Given the description of an element on the screen output the (x, y) to click on. 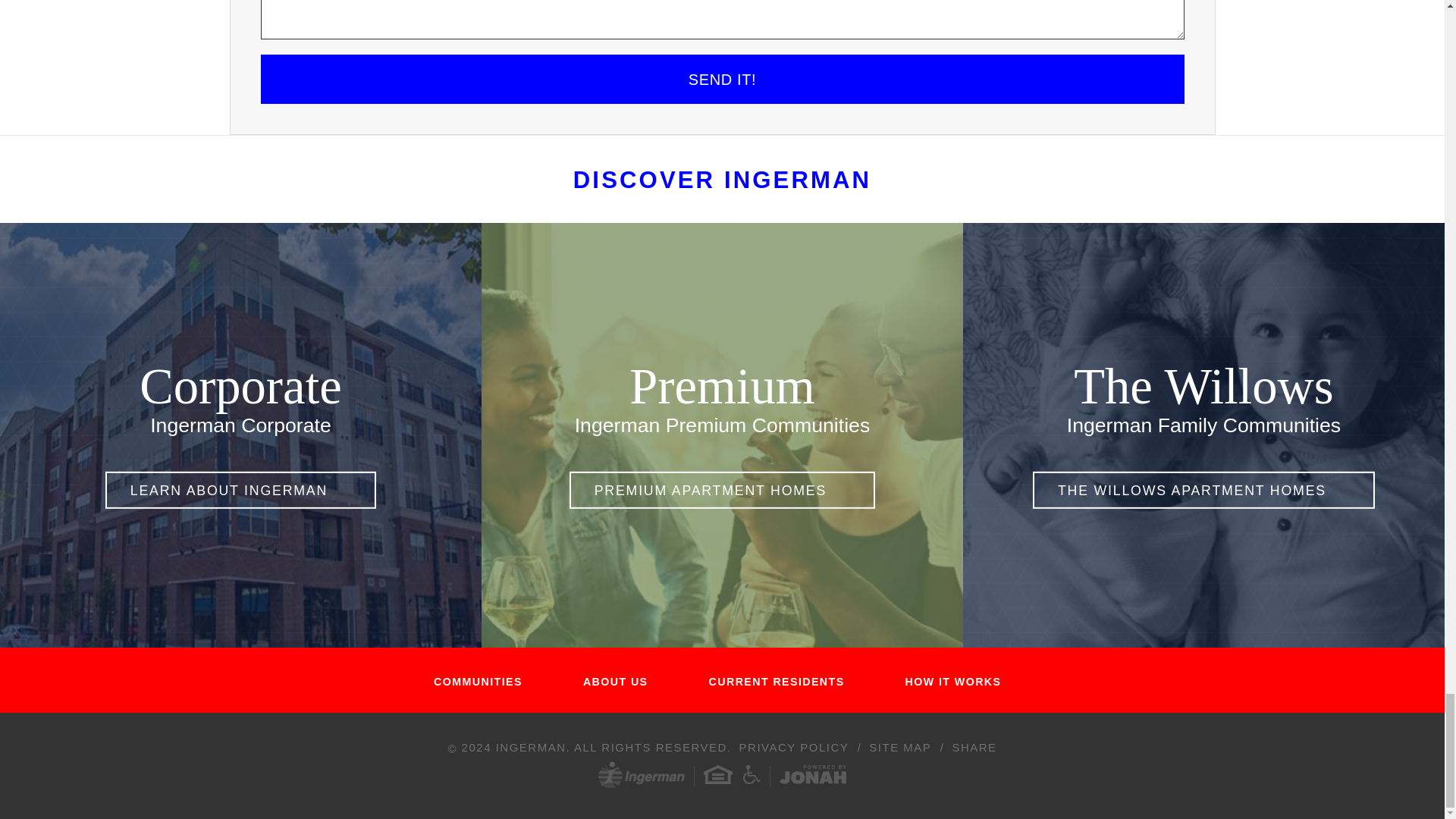
Jonah Digital Agency (811, 775)
Handicap Accessible (751, 773)
Fair Housing and Equal Opportunity (717, 773)
Ingerman (641, 776)
